Given the description of an element on the screen output the (x, y) to click on. 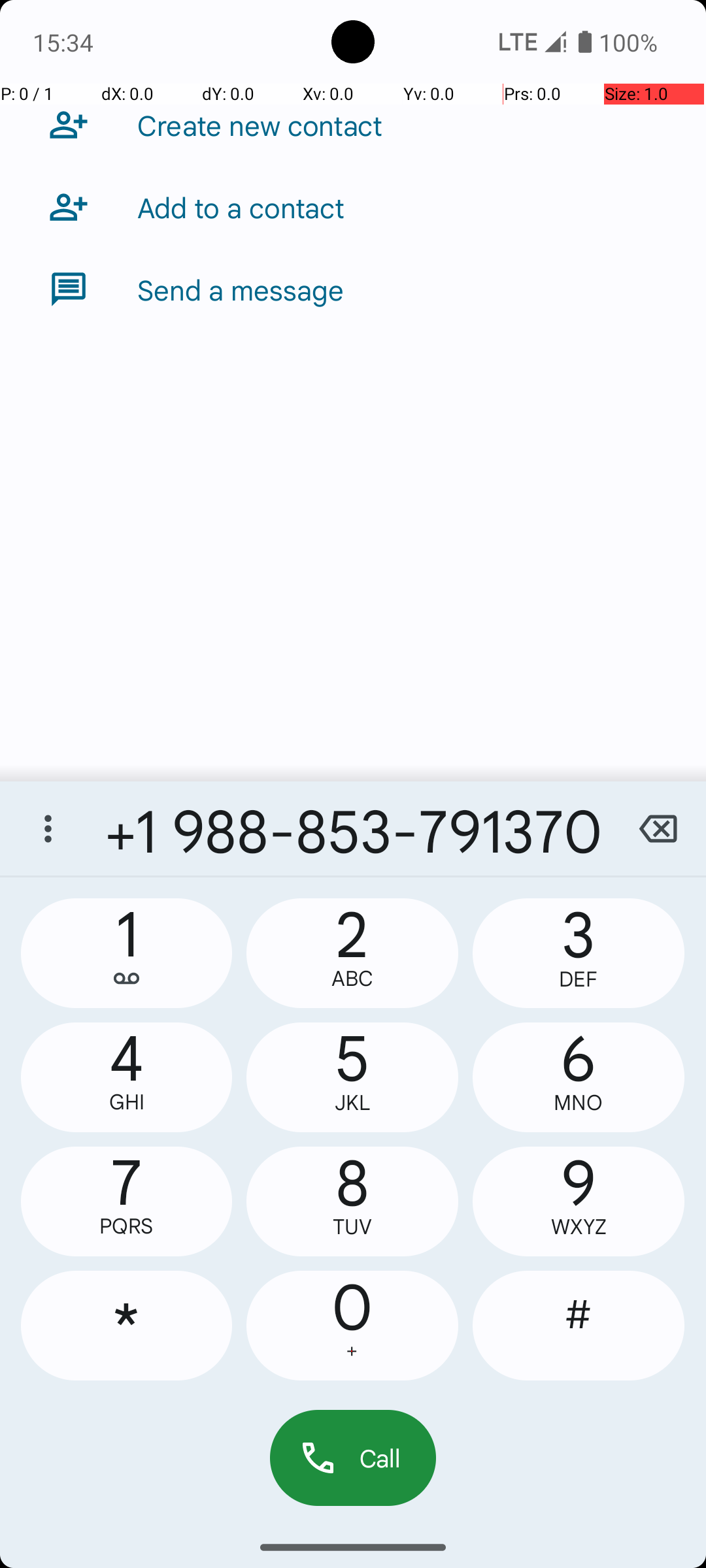
+1 988-853-791370 Element type: android.widget.EditText (352, 828)
